Given the description of an element on the screen output the (x, y) to click on. 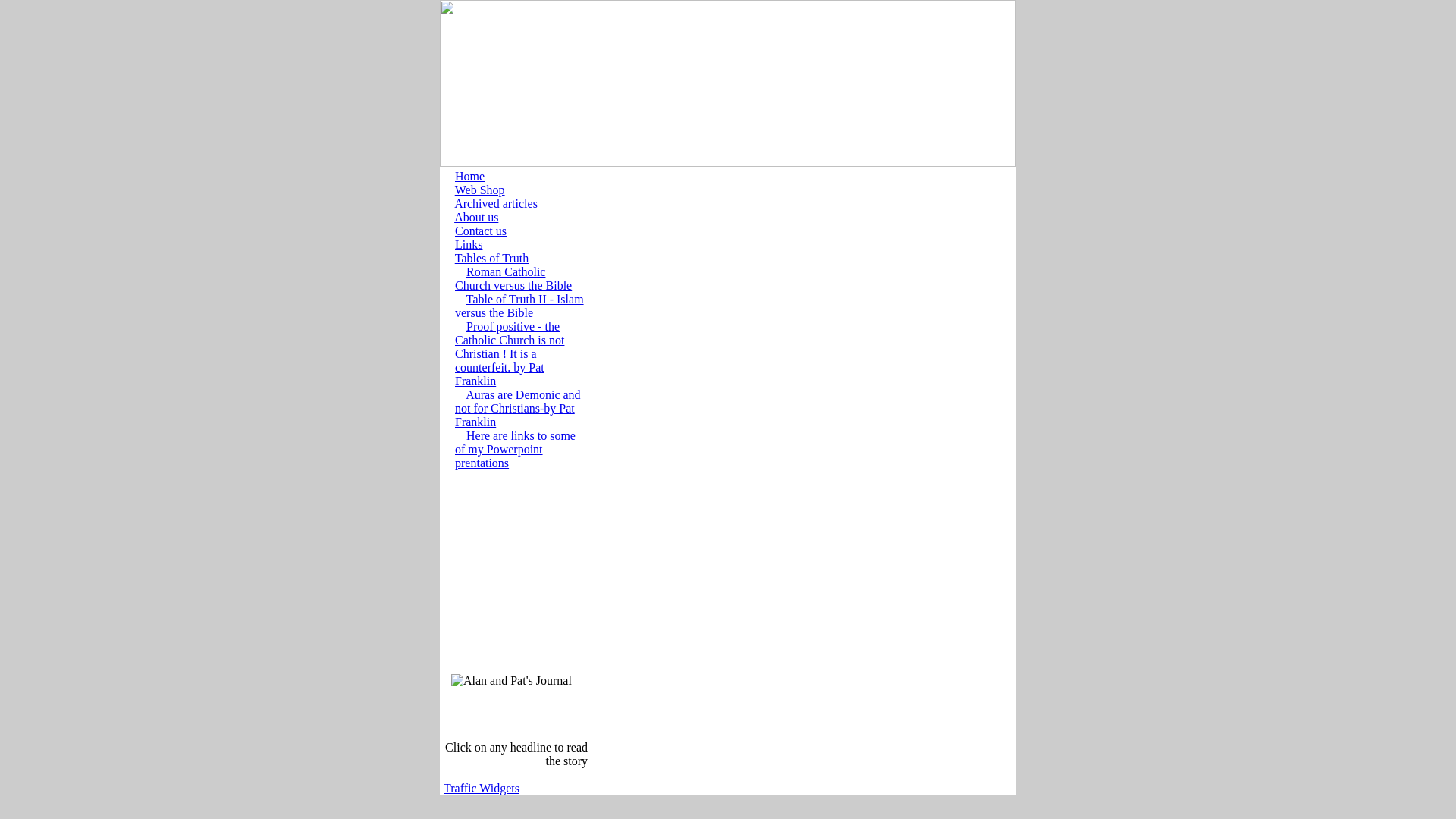
Roman Catholic Church versus the Bible (513, 278)
Web Shop (479, 189)
Here are links to some of my Powerpoint prentations (514, 449)
Tables of Truth (491, 257)
Auras are Demonic and not for Christians-by Pat Franklin (517, 408)
Table of Truth II - Islam versus the Bible (518, 305)
Contact us (480, 230)
Archived articles (495, 203)
Home (469, 175)
Links (467, 244)
